Given the description of an element on the screen output the (x, y) to click on. 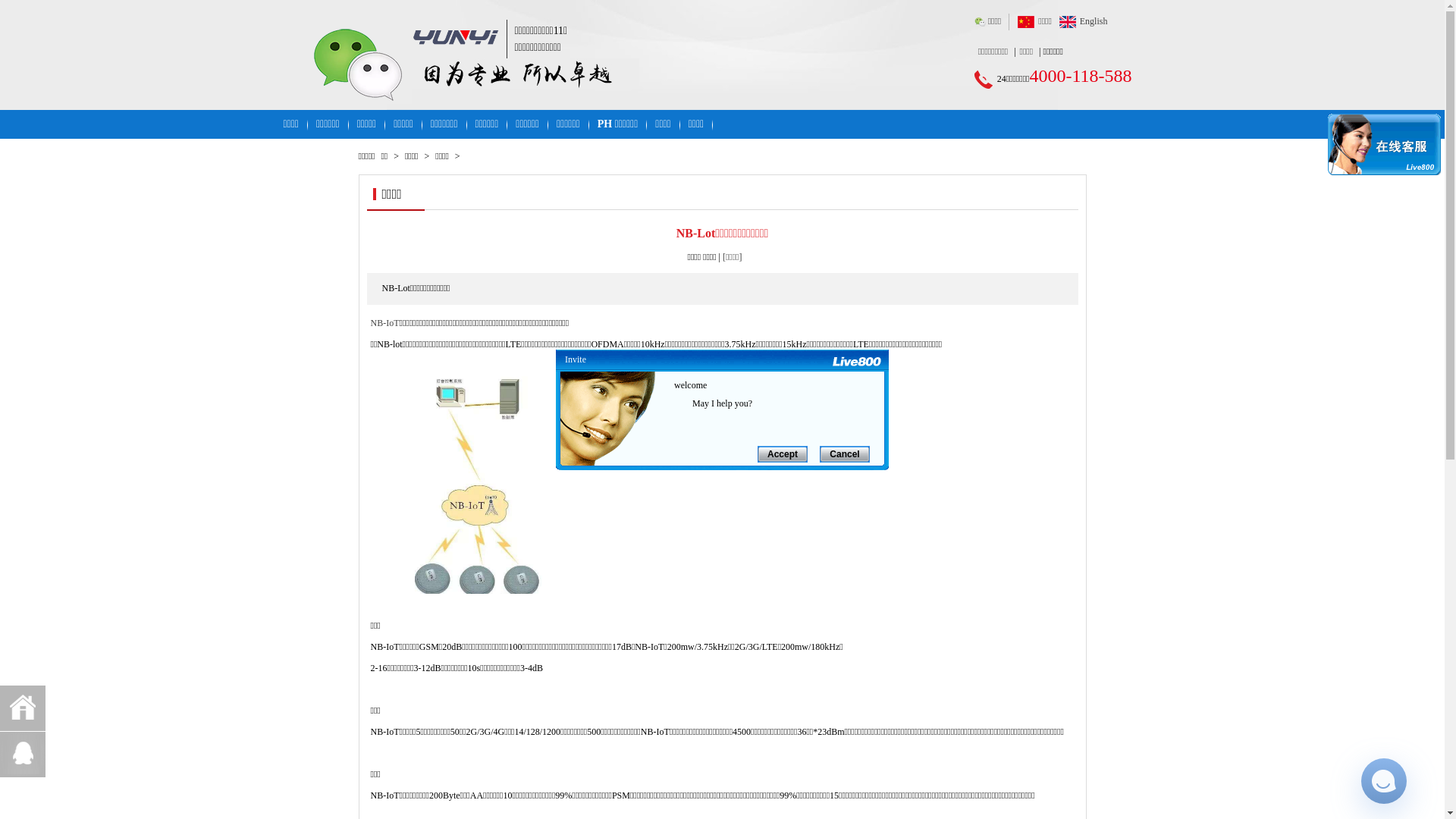
Cancel Element type: text (838, 452)
NB-IoT Element type: text (384, 322)
Cancel Element type: text (844, 453)
English Element type: text (1093, 20)
Accept Element type: text (776, 452)
Accept Element type: text (782, 453)
